Given the description of an element on the screen output the (x, y) to click on. 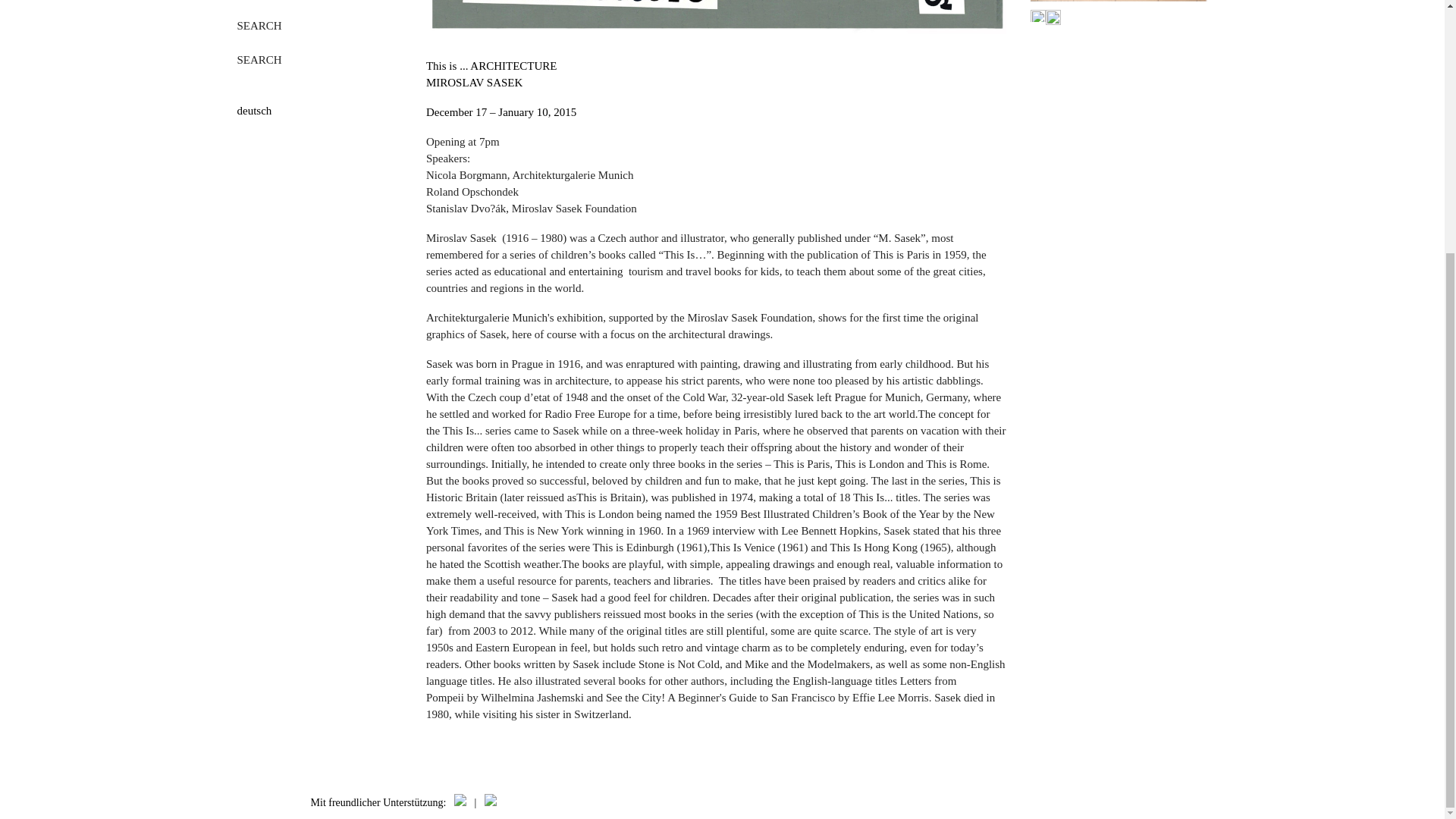
SEARCH (258, 60)
deutsch (318, 110)
SEARCH (258, 25)
